Given the description of an element on the screen output the (x, y) to click on. 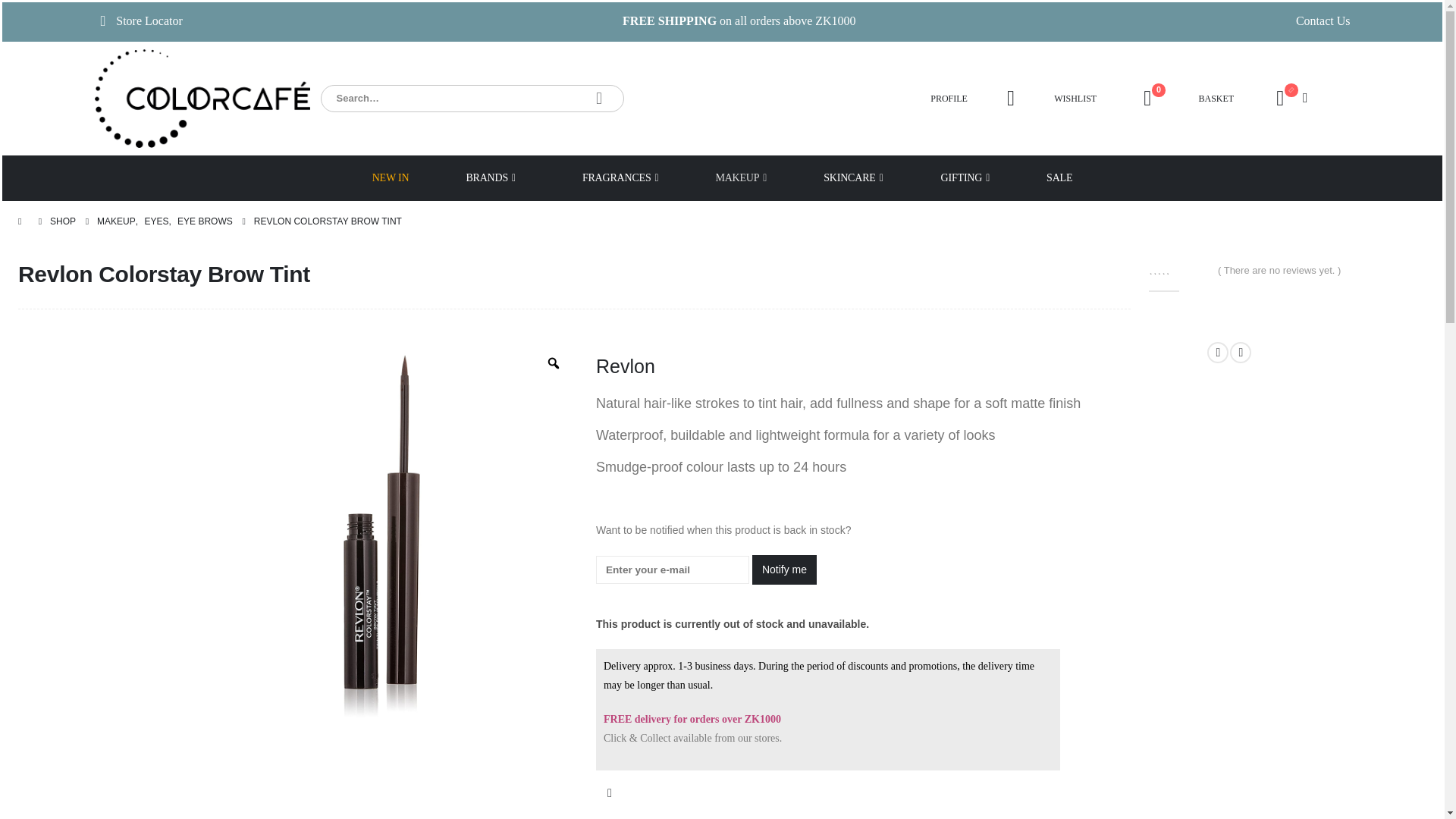
0 (1147, 97)
BRANDS (490, 177)
NEW IN (390, 177)
BASKET (1215, 98)
Contact Us (1323, 20)
0 (1178, 269)
View brand (625, 365)
PROFILE (949, 98)
My Account (1010, 97)
Search (599, 98)
